Given the description of an element on the screen output the (x, y) to click on. 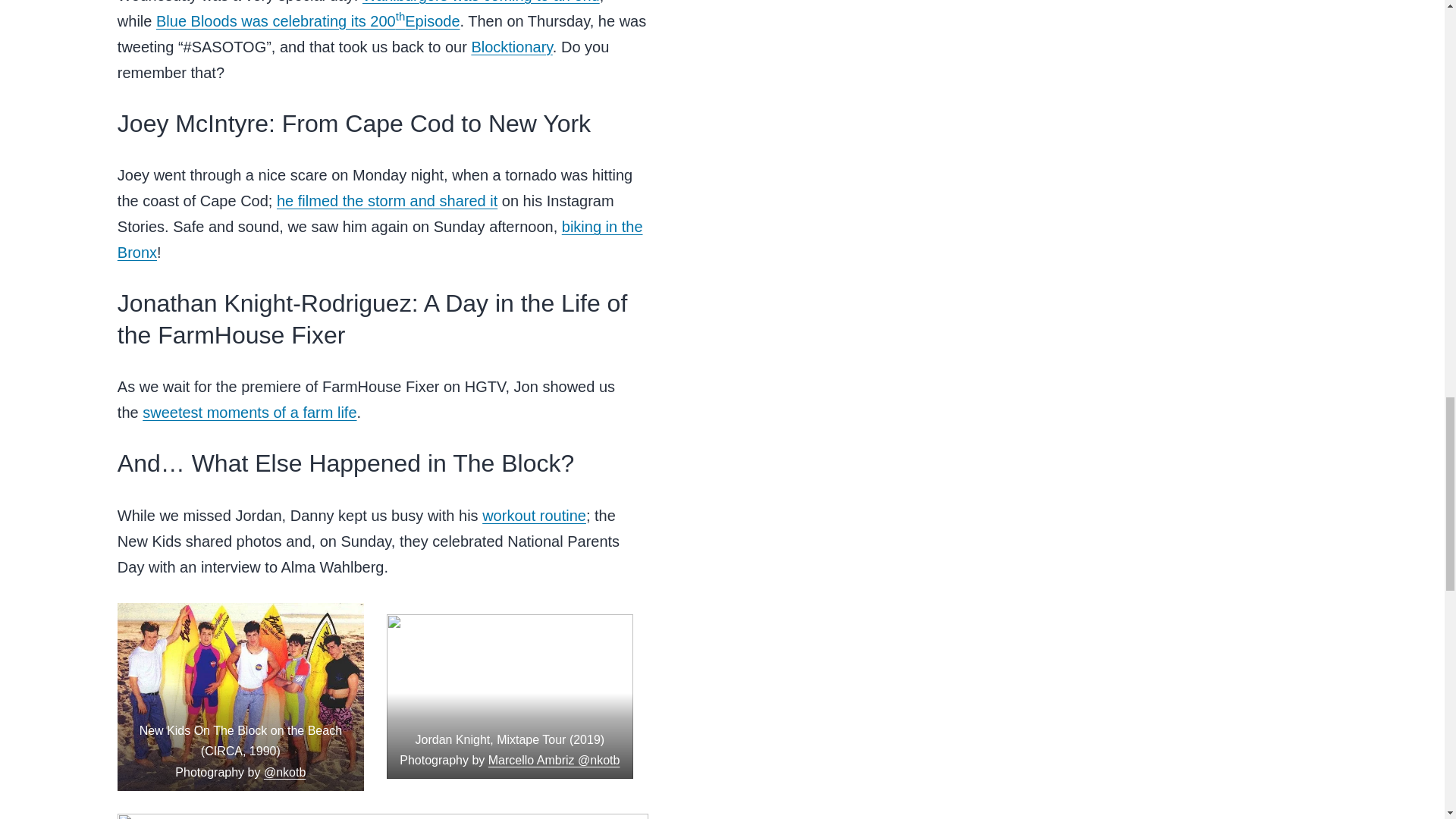
biking in the Bronx (380, 239)
sweetest moments of a farm life (249, 412)
Blocktionary (510, 46)
he filmed the storm and shared it (386, 200)
Blue Bloods was celebrating its 200thEpisode (307, 21)
Wahlburgers was coming to an end (480, 2)
